Given the description of an element on the screen output the (x, y) to click on. 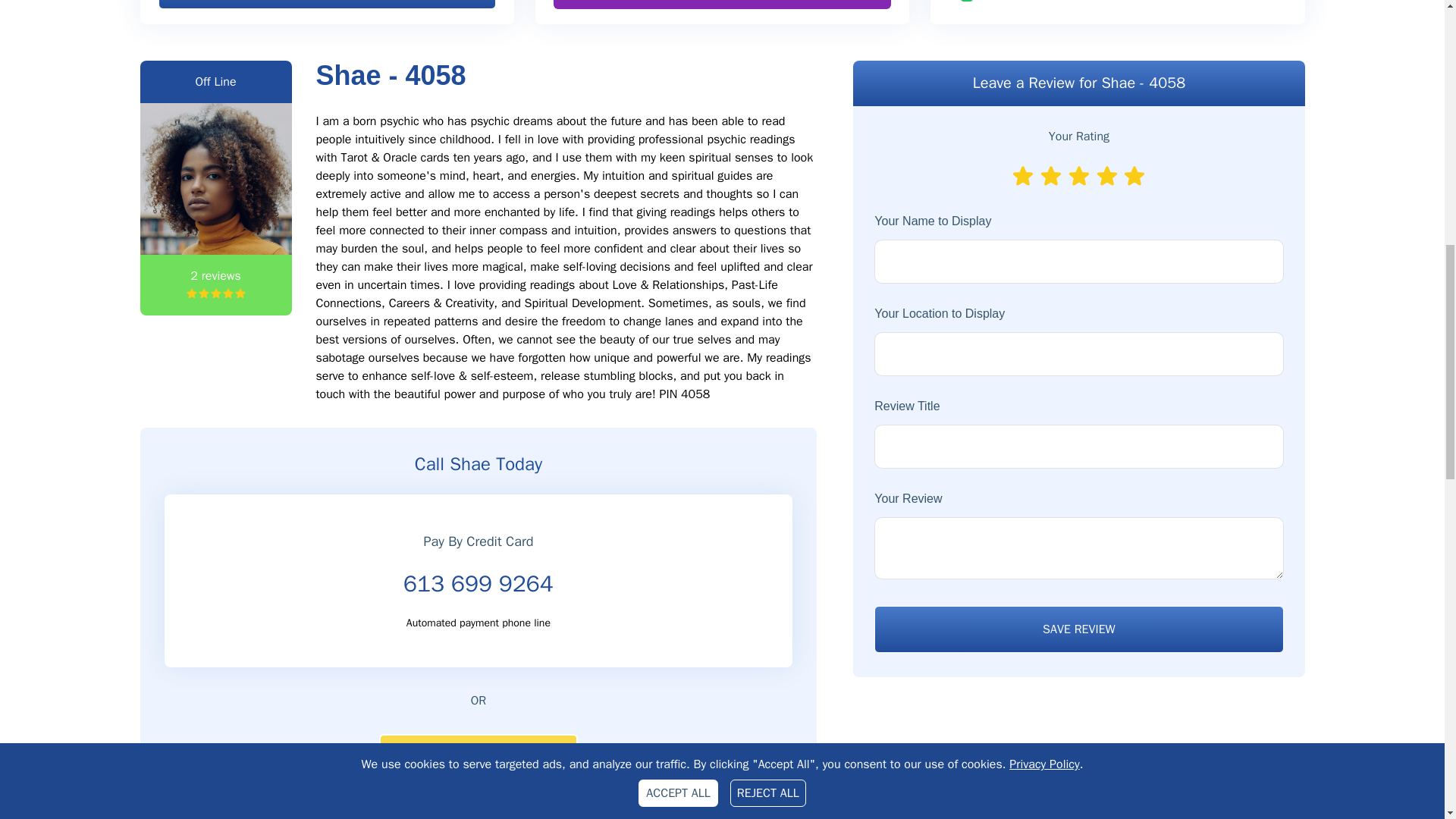
SAVE REVIEW (1078, 629)
BUY MINUTES ONLINE (326, 4)
613 699 9264 (477, 583)
CLICK TO BUY MINUTES ONLINE (478, 756)
PSYCHIC MESSENGER (722, 4)
